Given the description of an element on the screen output the (x, y) to click on. 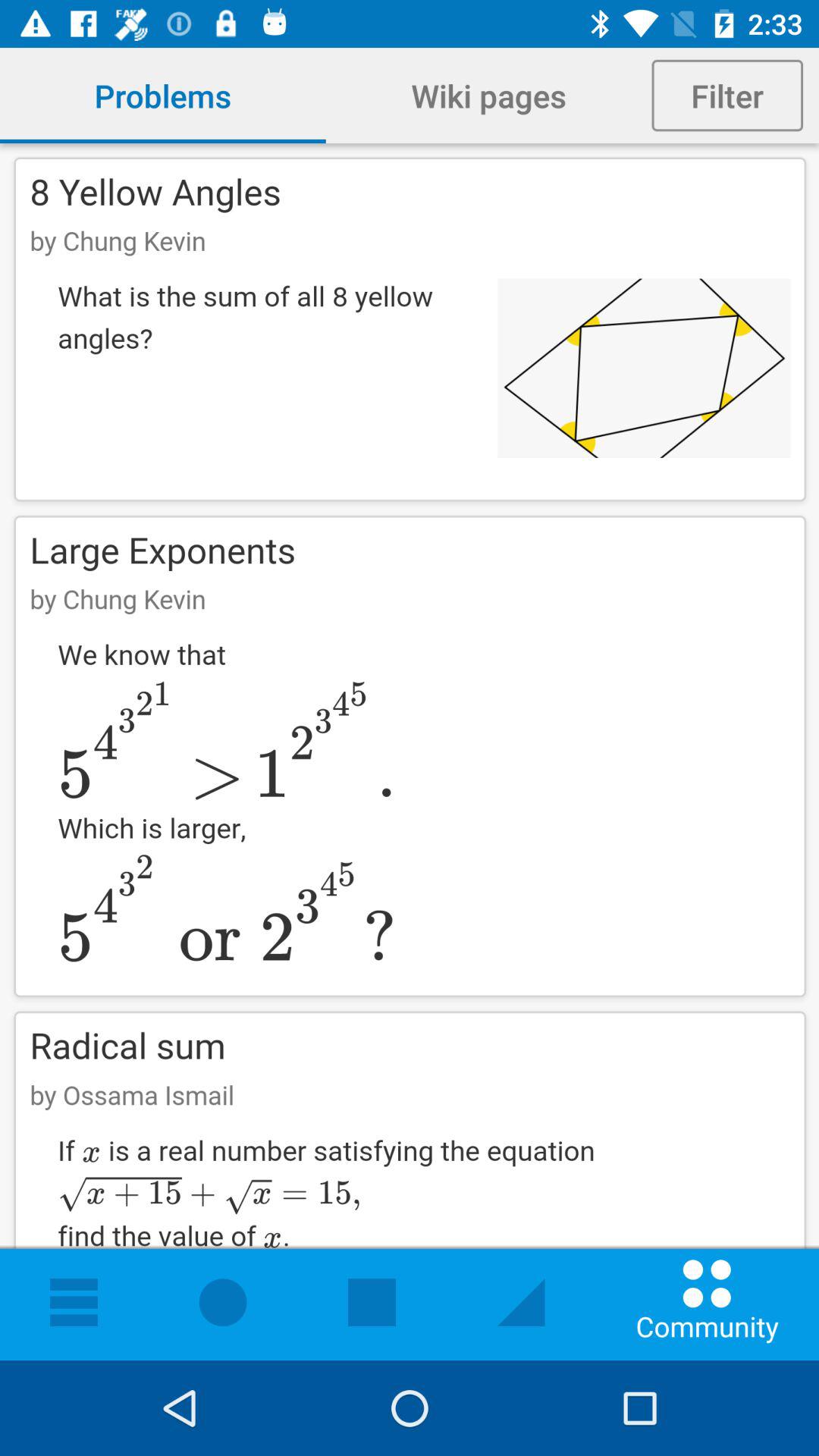
searching problems (409, 751)
